Given the description of an element on the screen output the (x, y) to click on. 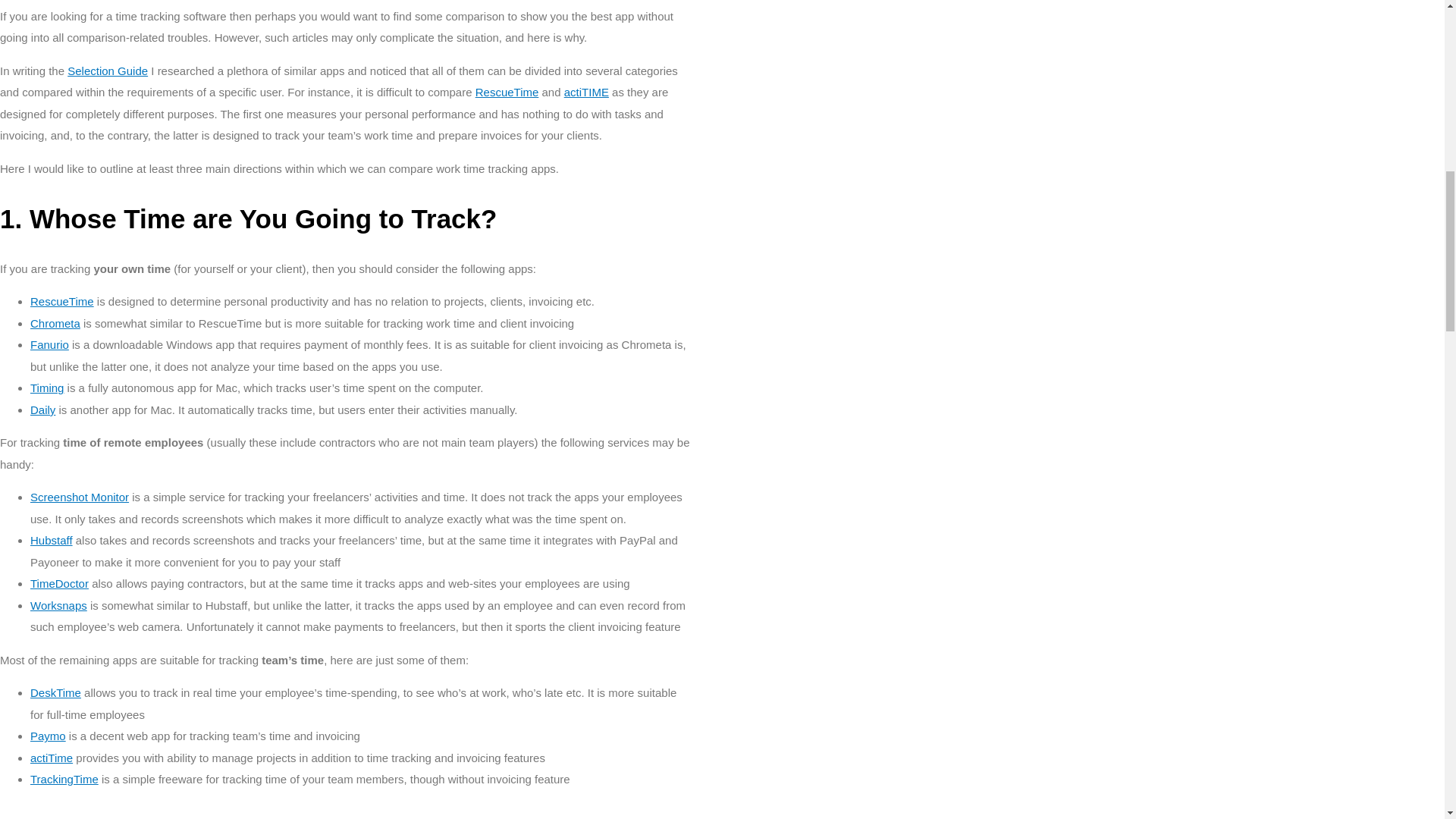
Paymo (47, 735)
TrackingTime (64, 779)
actiTIME (586, 91)
Daily (42, 409)
RescueTime (62, 300)
RescueTime (62, 300)
Chrometa (55, 323)
Hubstaff (51, 540)
actiTIME (586, 91)
RescueTime (507, 91)
Screenshot Monitor (79, 496)
Fanurio (49, 344)
DeskTime (59, 583)
Fanurio (49, 344)
Paymo (47, 735)
